Given the description of an element on the screen output the (x, y) to click on. 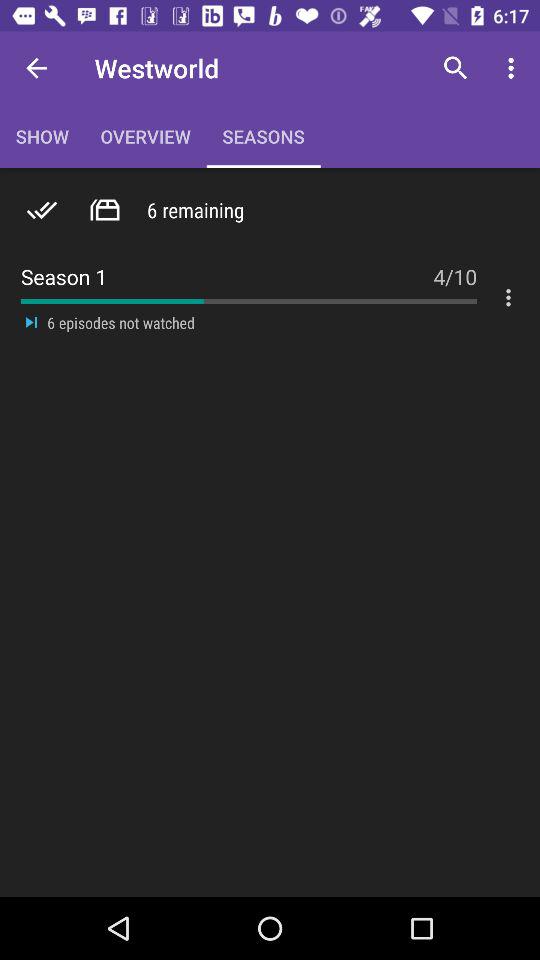
launch the item next to the overview item (36, 68)
